Given the description of an element on the screen output the (x, y) to click on. 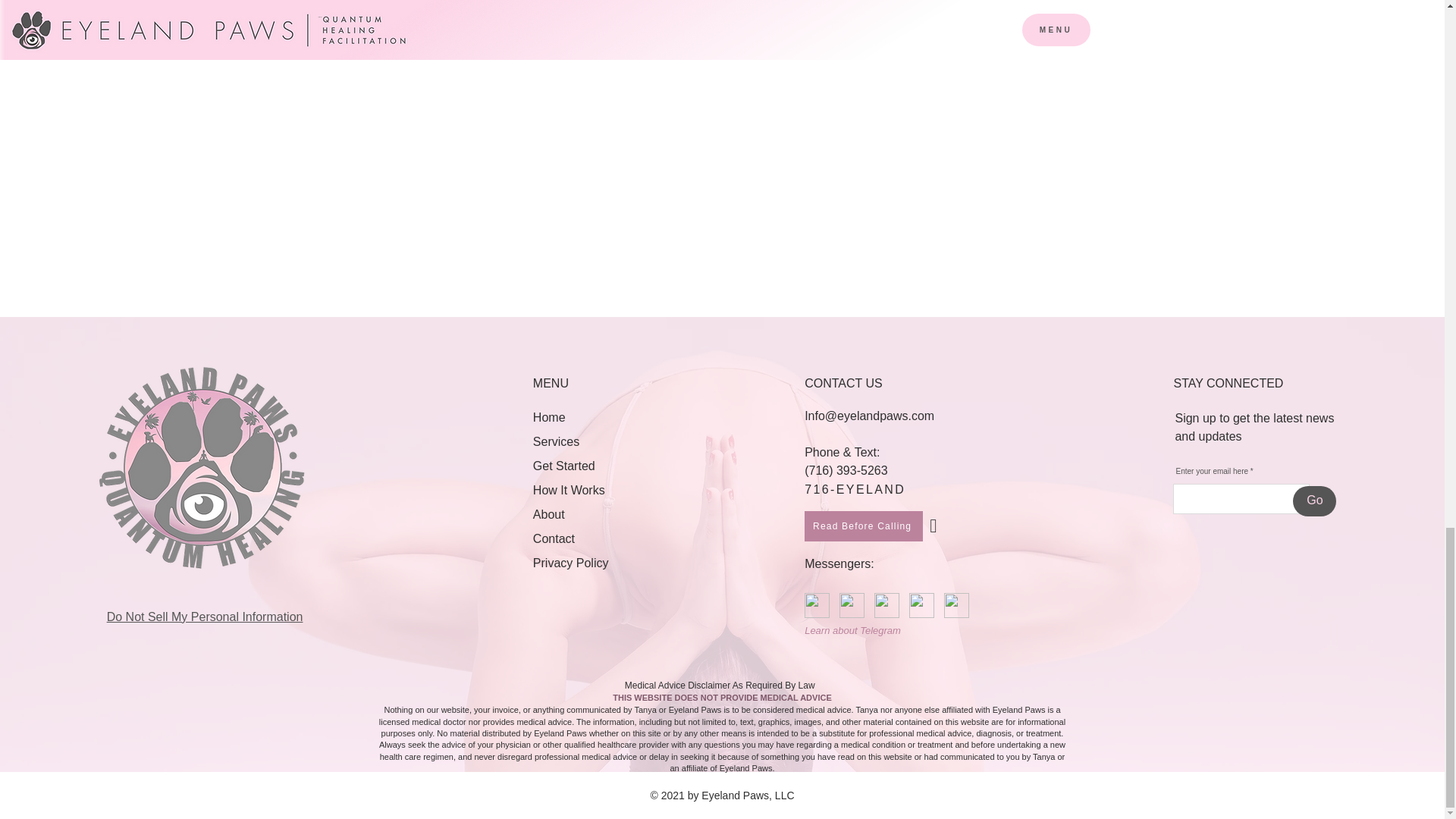
Go (1314, 501)
Do Not Sell My Personal Information (204, 617)
About (548, 513)
Read Before Calling (864, 526)
How It Works (568, 490)
716-EYELAND (855, 489)
Learn about Telegram  (853, 630)
Privacy Policy (570, 562)
Home (549, 417)
Services  (557, 440)
